Given the description of an element on the screen output the (x, y) to click on. 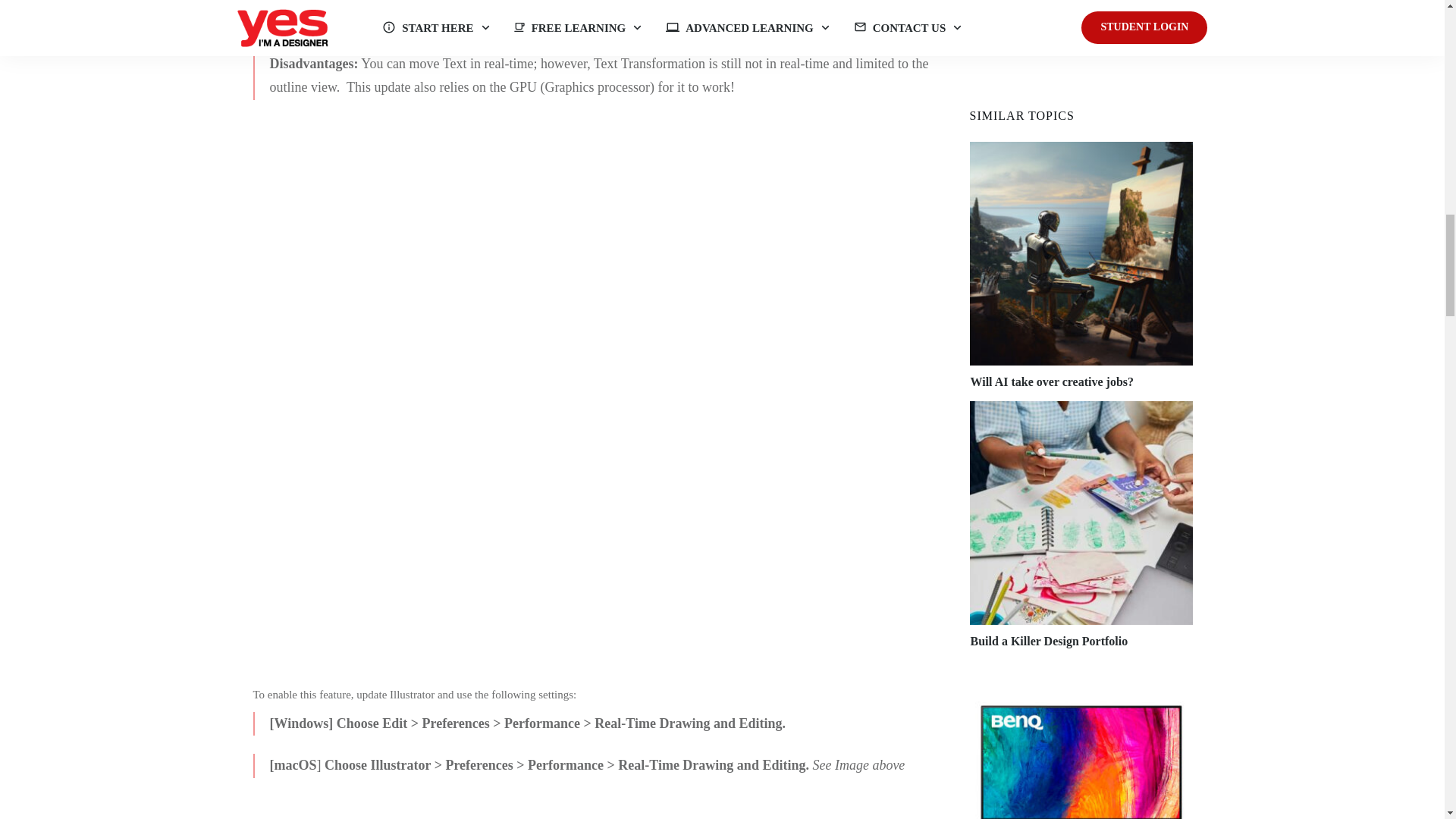
Will AI take over creative jobs? (1052, 381)
Build a Killer Design Portfolio (1049, 640)
Yes I'm a Designer Podcast (1080, 47)
